Given the description of an element on the screen output the (x, y) to click on. 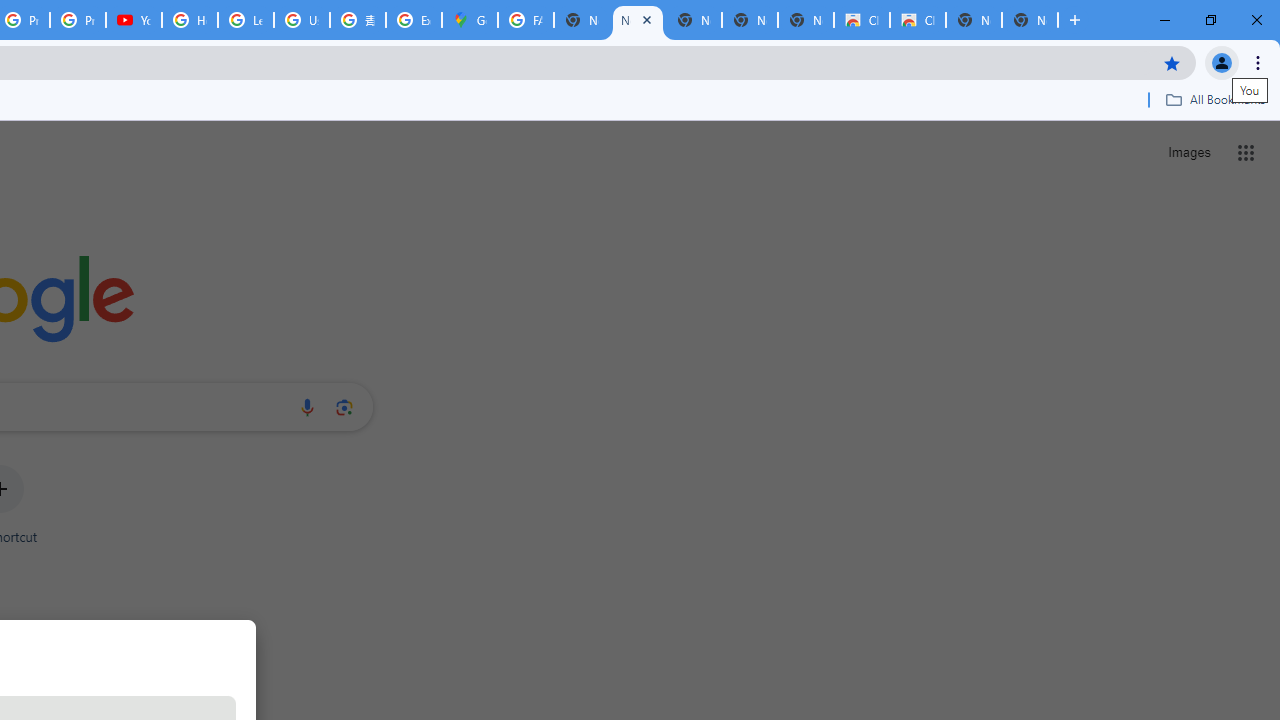
Privacy Checkup (77, 20)
How Chrome protects your passwords - Google Chrome Help (189, 20)
YouTube (134, 20)
